Given the description of an element on the screen output the (x, y) to click on. 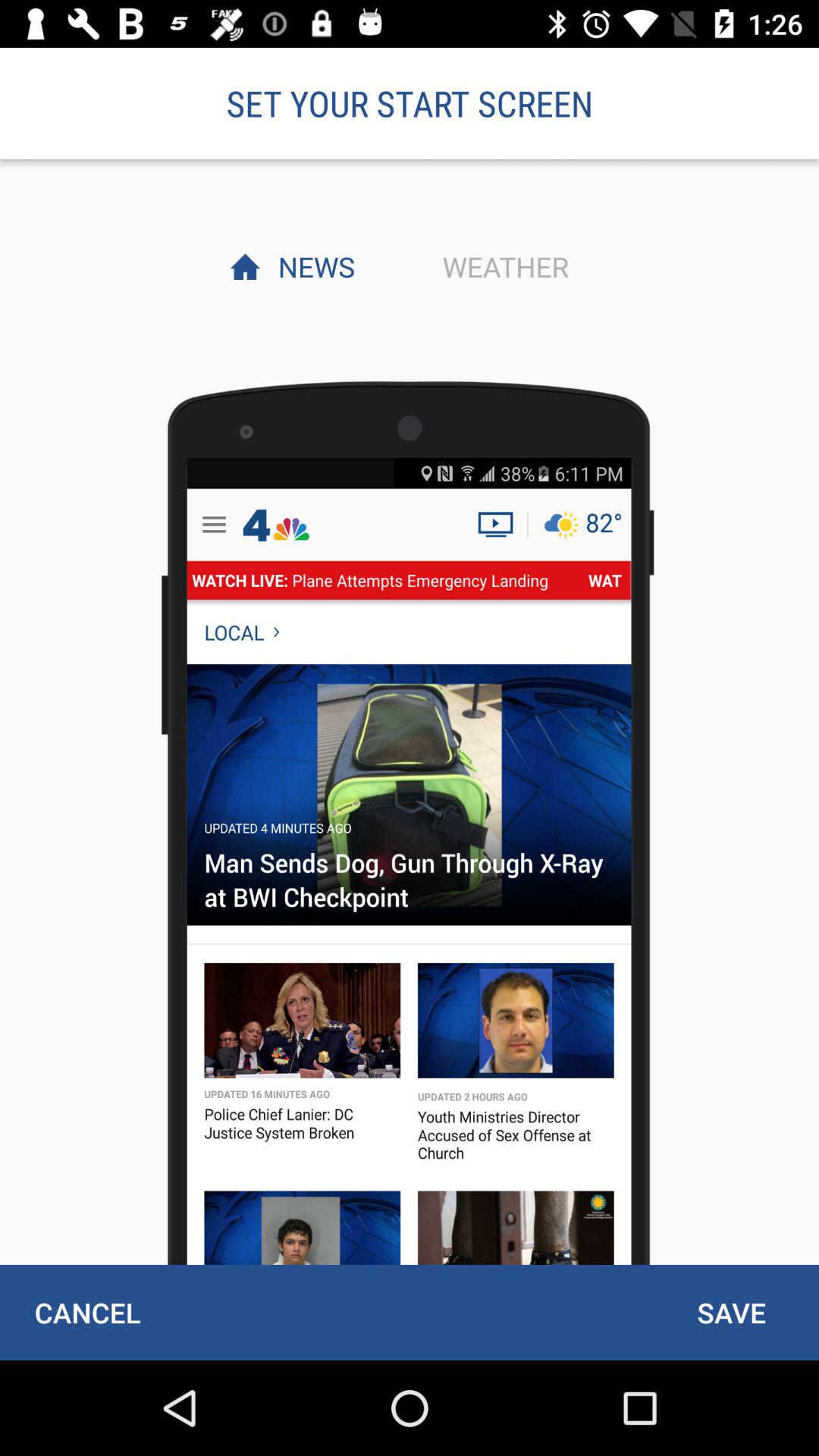
press icon above news (409, 103)
